Given the description of an element on the screen output the (x, y) to click on. 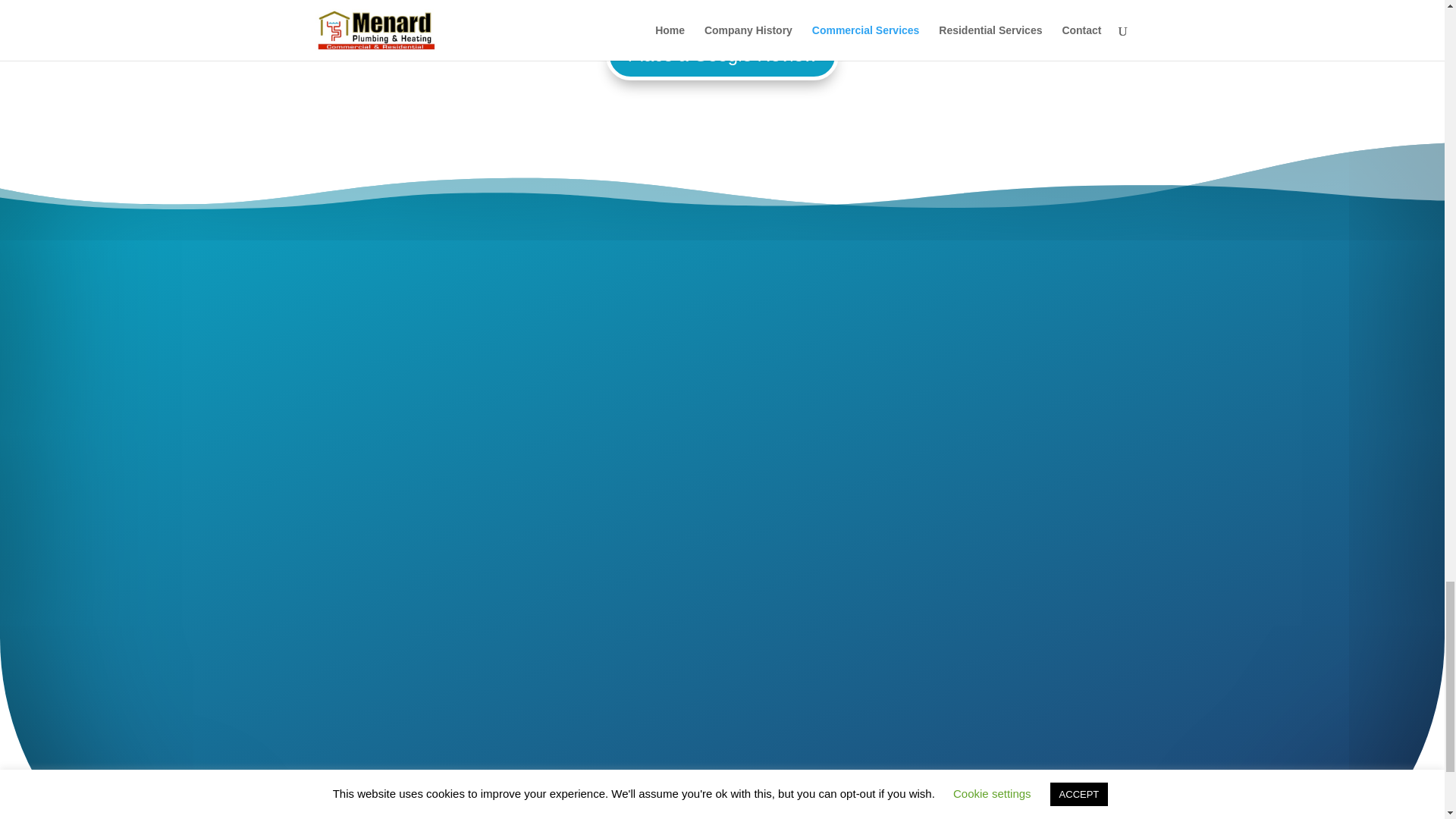
Place a Google Review (721, 55)
